Given the description of an element on the screen output the (x, y) to click on. 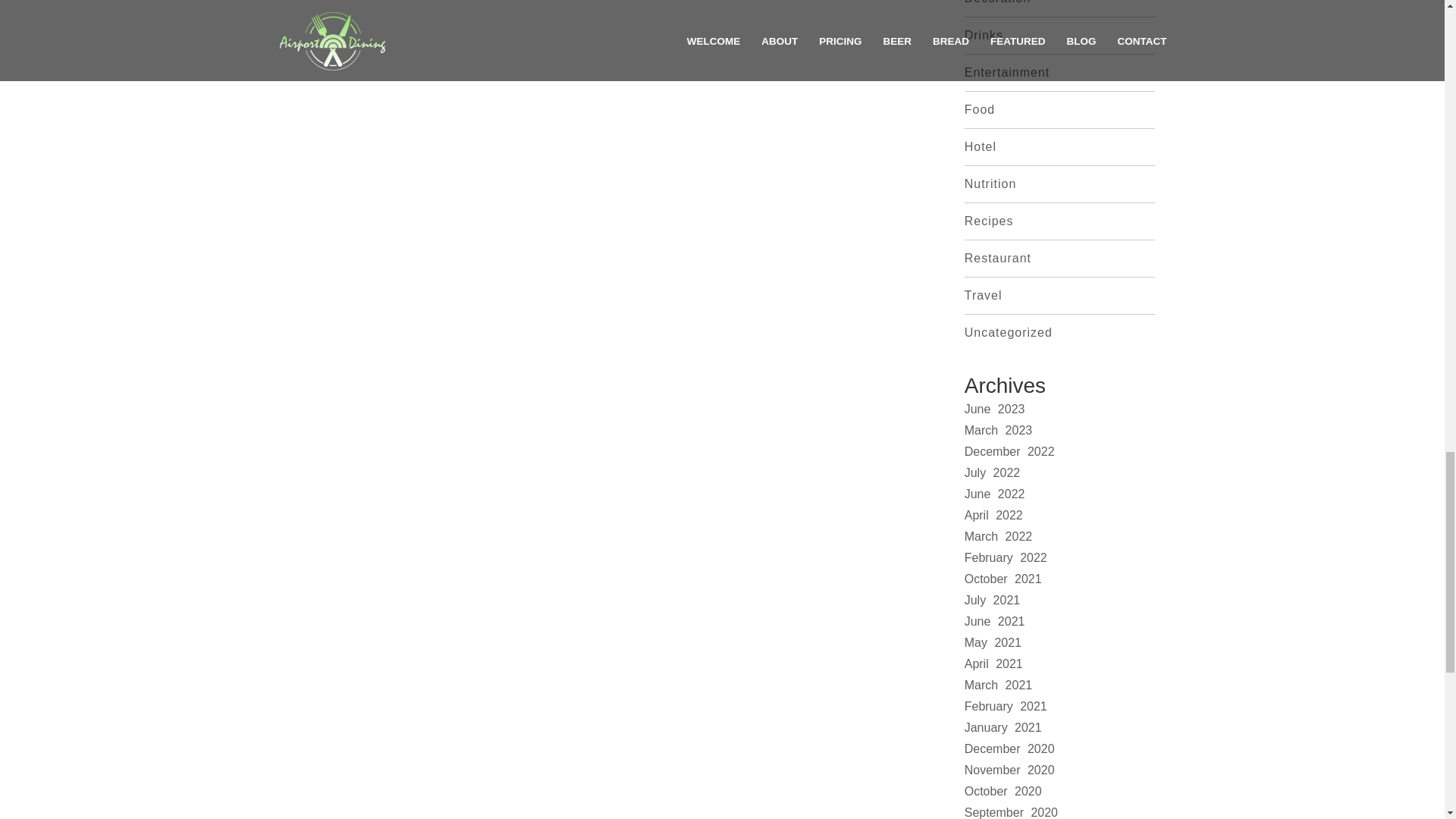
Restaurant (996, 257)
July 2022 (991, 472)
Travel (983, 295)
Nutrition (989, 183)
June 2023 (994, 408)
December 2022 (1008, 451)
Recipes (988, 220)
Drinks (983, 34)
Hotel (979, 146)
Decoration (996, 2)
